Given the description of an element on the screen output the (x, y) to click on. 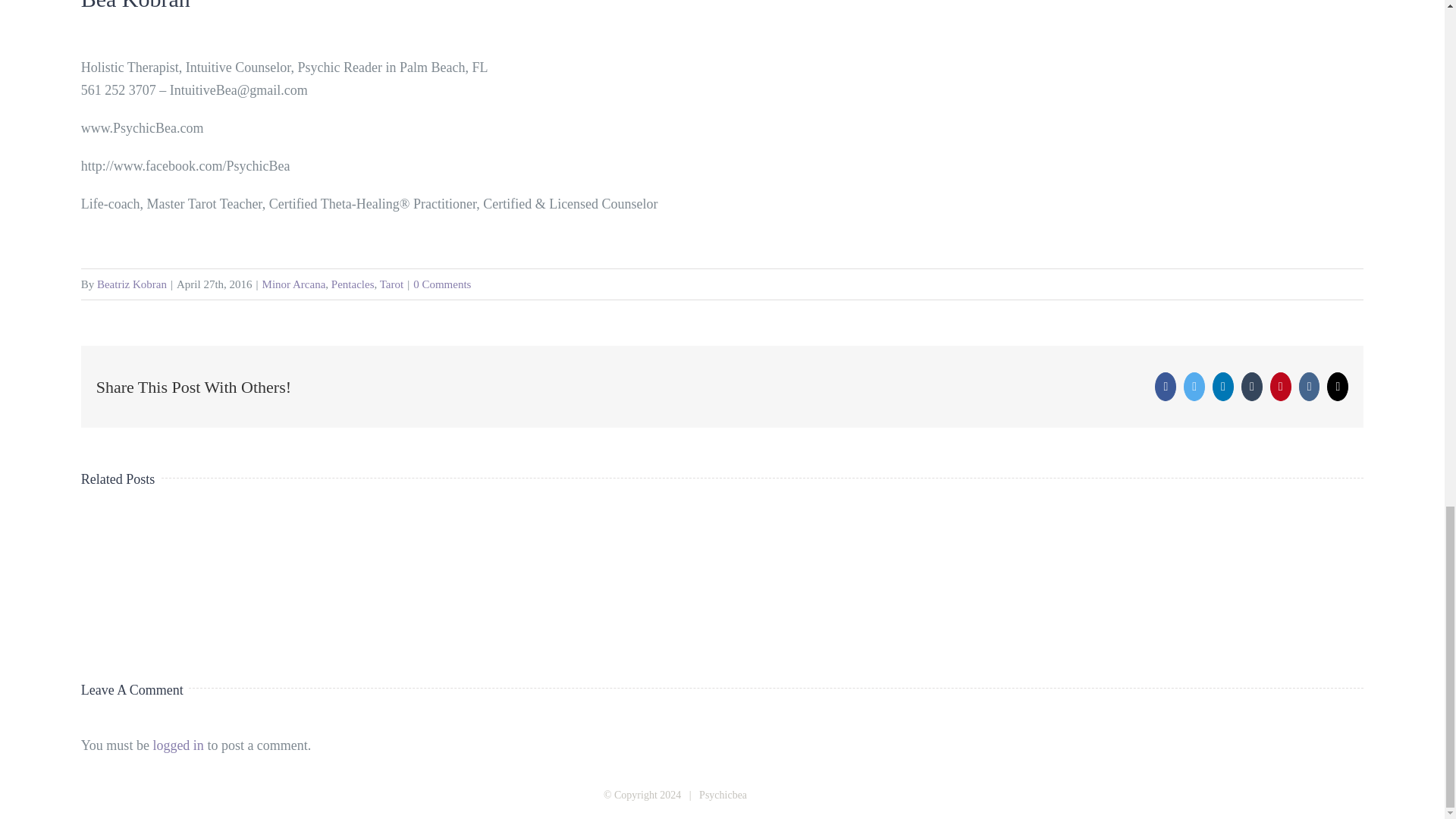
Posts by Beatriz Kobran (132, 284)
